Given the description of an element on the screen output the (x, y) to click on. 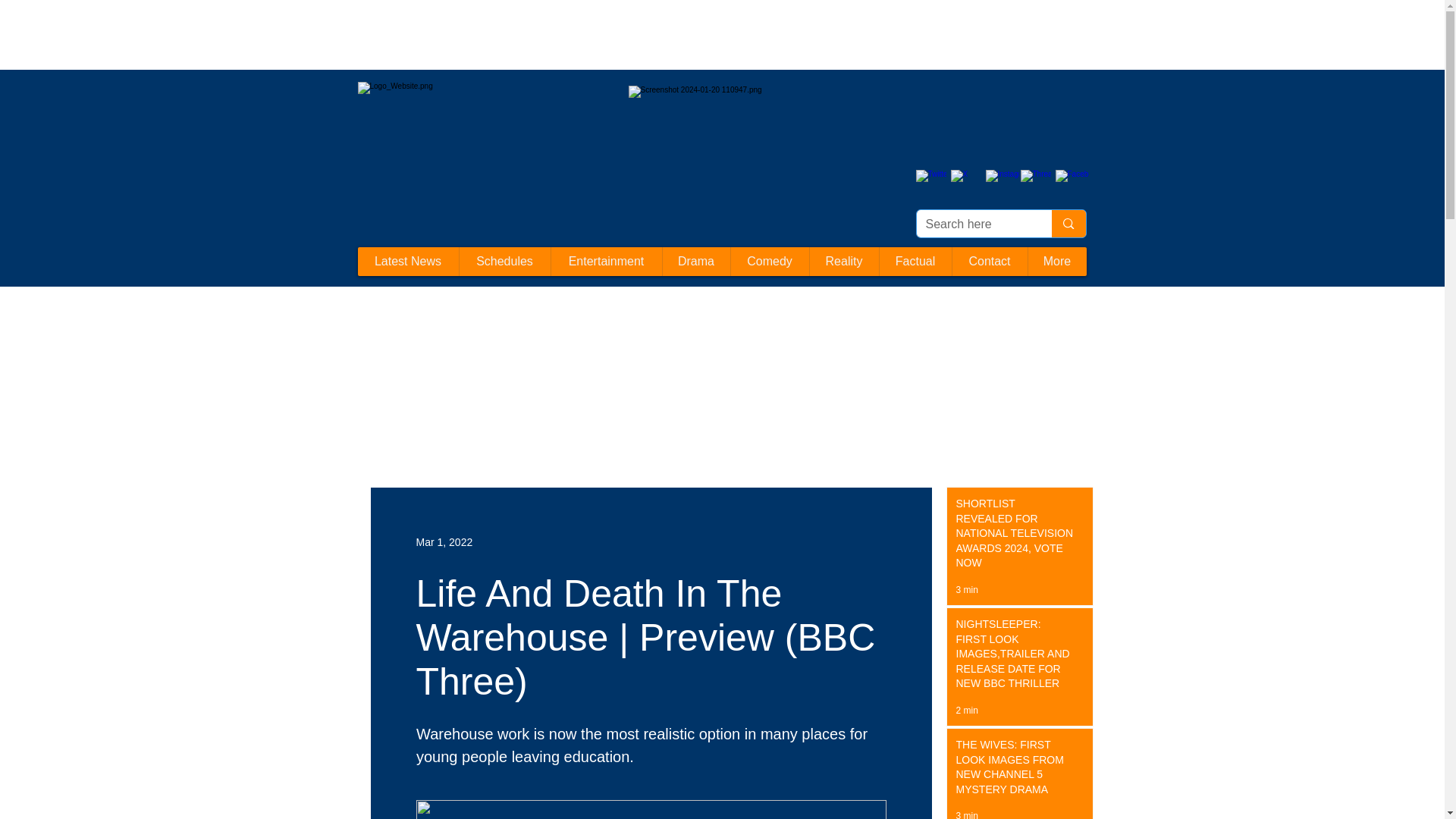
Entertainment (606, 261)
Latest News (408, 261)
Comedy (768, 261)
Schedules (504, 261)
Mar 1, 2022 (442, 541)
3 min (965, 814)
Contact (988, 261)
Drama (695, 261)
2 min (965, 710)
